Given the description of an element on the screen output the (x, y) to click on. 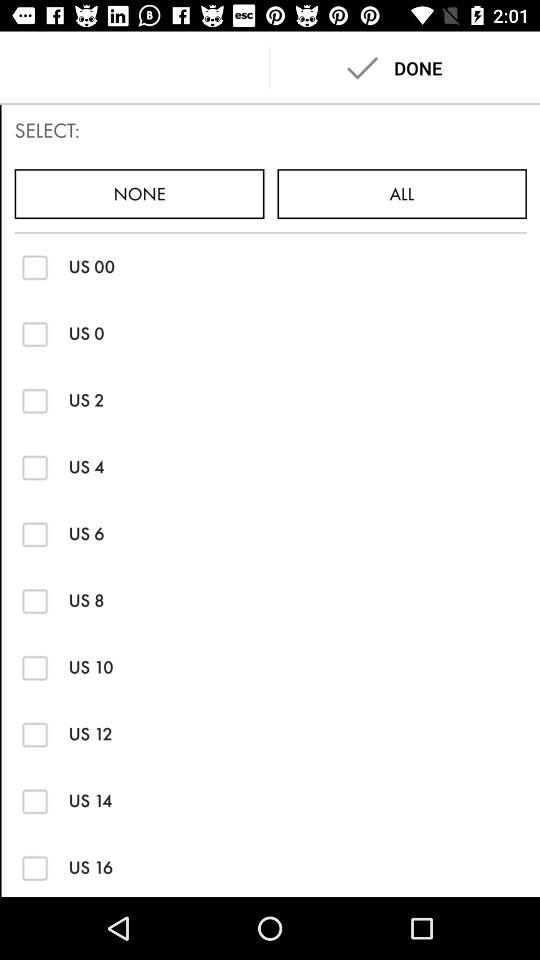
choose size (34, 333)
